Given the description of an element on the screen output the (x, y) to click on. 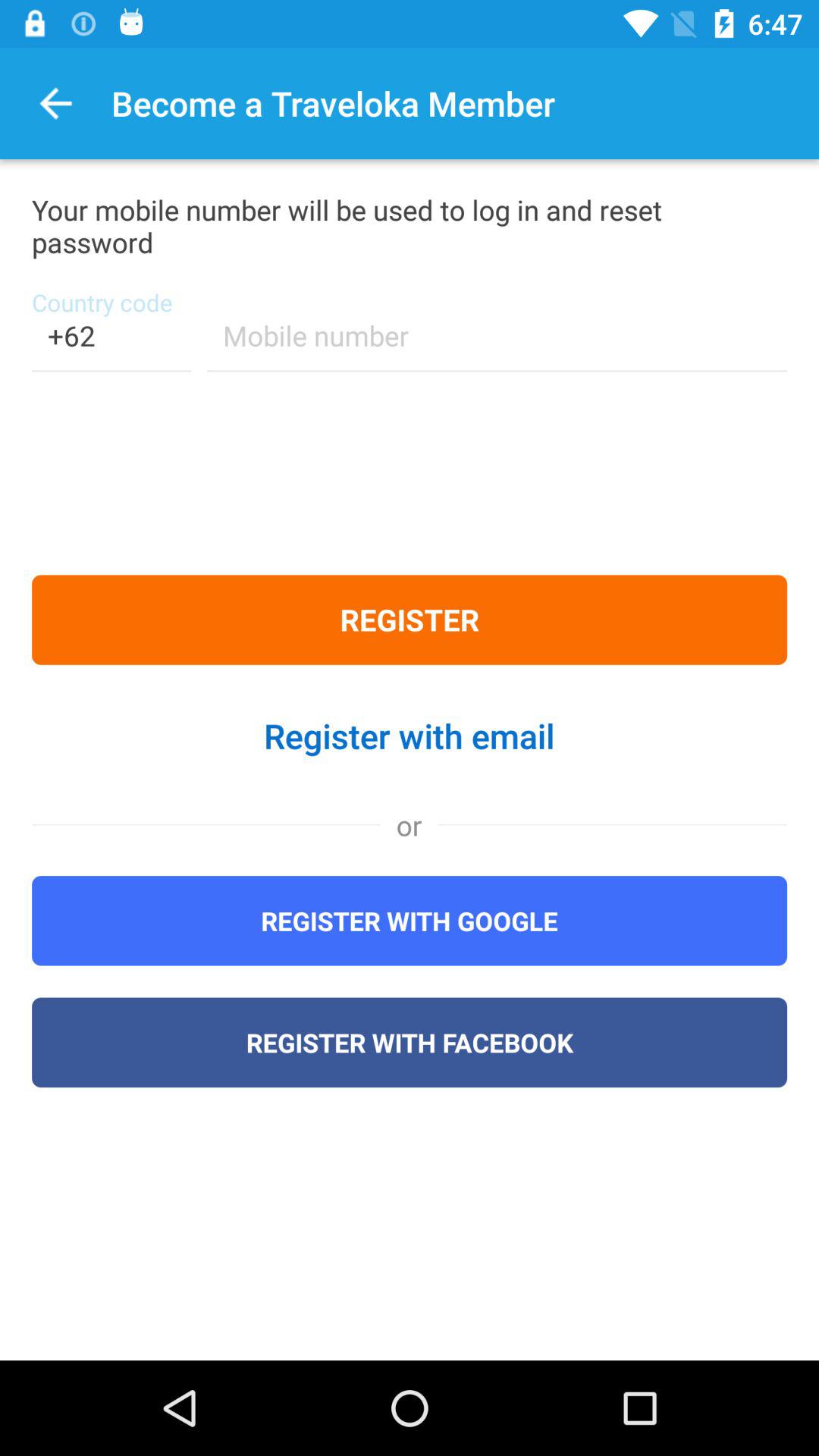
turn on the icon below your mobile number item (497, 345)
